Given the description of an element on the screen output the (x, y) to click on. 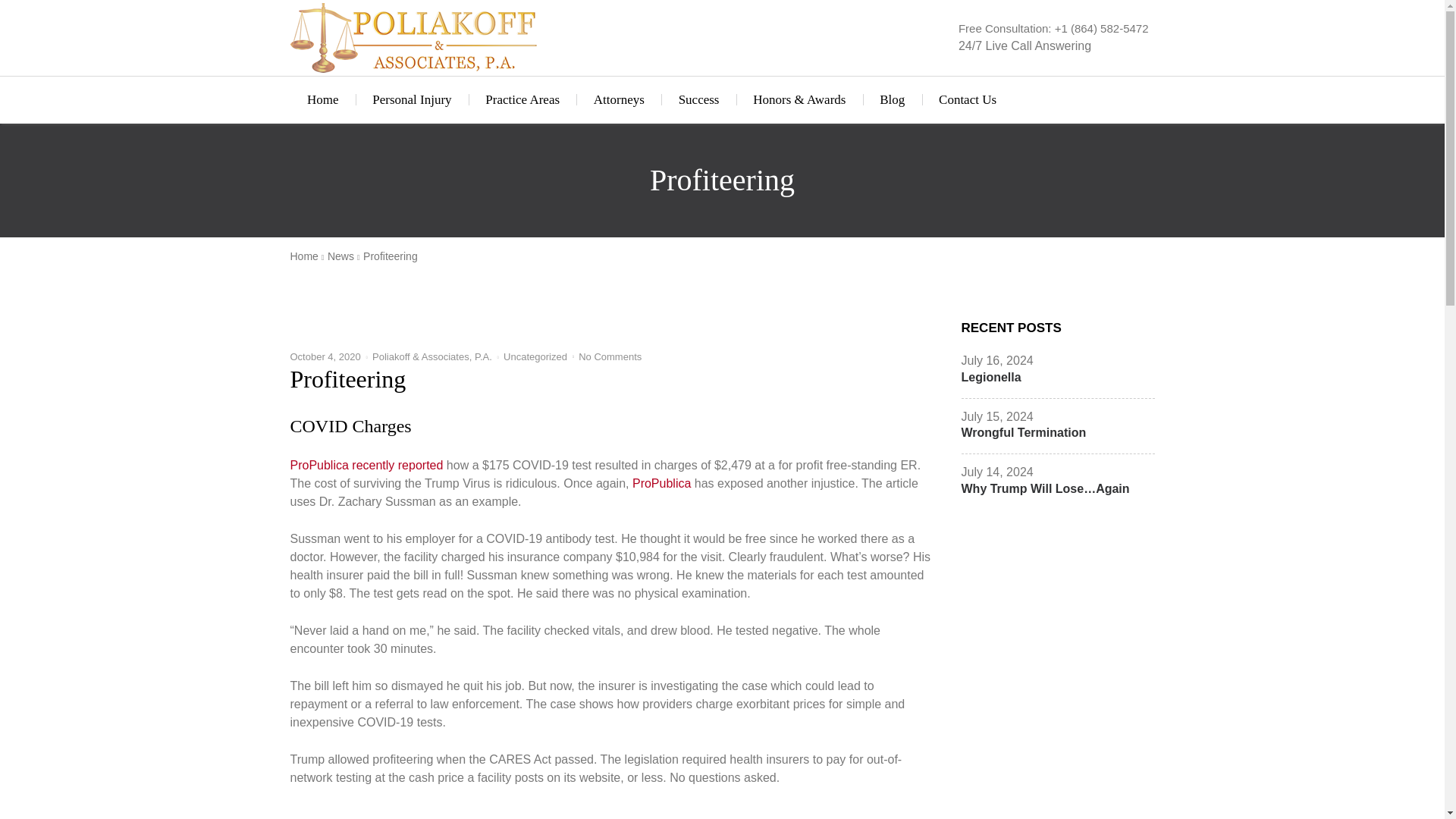
Contact Us (967, 99)
Home (322, 99)
Legionella (991, 377)
Personal Injury (411, 99)
Home (306, 256)
Success (698, 99)
Wrongful Termination (1023, 431)
Uncategorized (535, 356)
ProPublica (660, 482)
News (343, 256)
ProPublica recently reported (365, 464)
Attorneys (618, 99)
Blog (892, 99)
Practice Areas (522, 99)
